Given the description of an element on the screen output the (x, y) to click on. 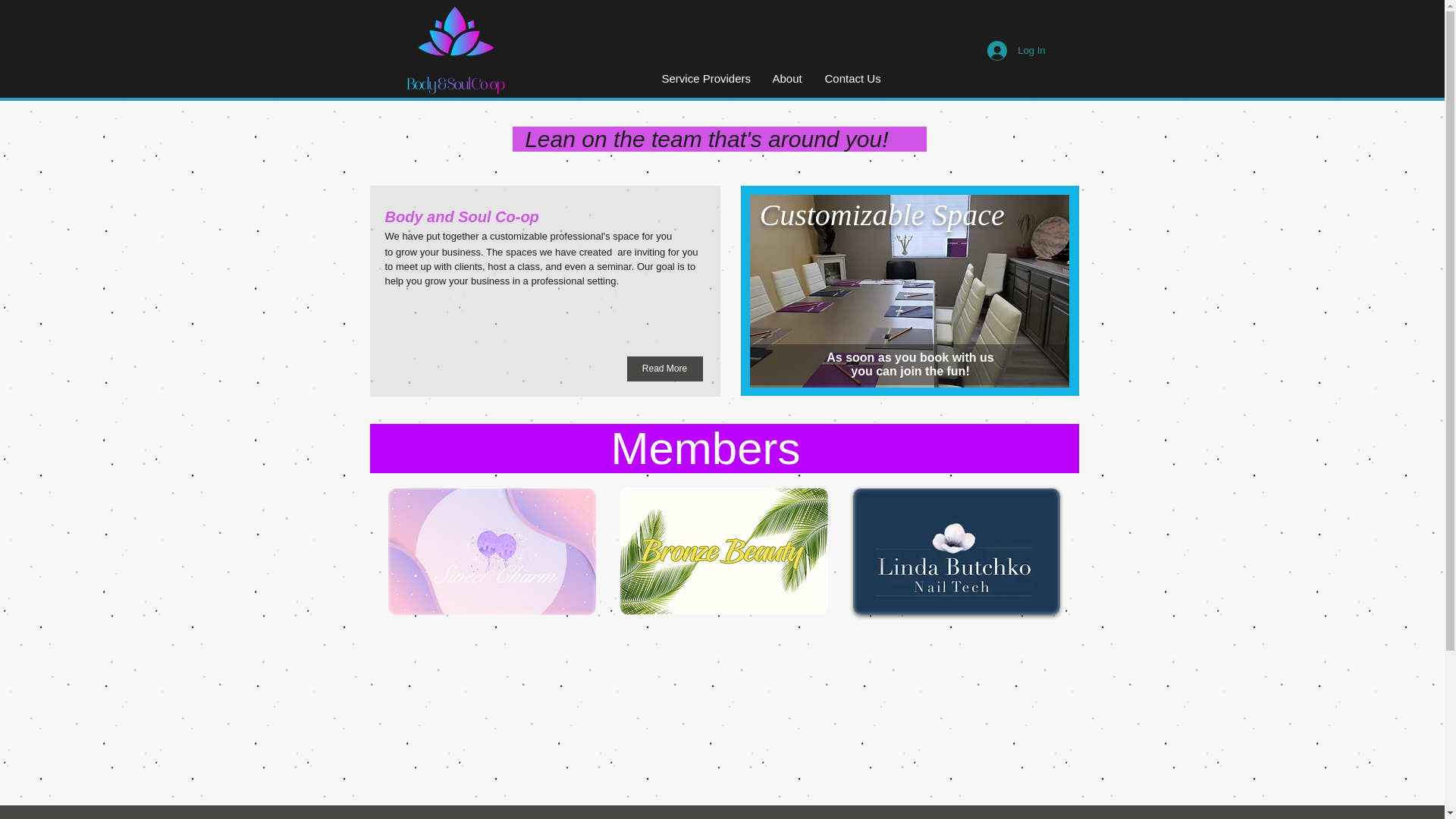
Service Providers (705, 78)
Read More (663, 368)
Log In (1015, 50)
BB.png (724, 551)
SC.png (491, 551)
Contact Us (851, 78)
About (787, 78)
